Given the description of an element on the screen output the (x, y) to click on. 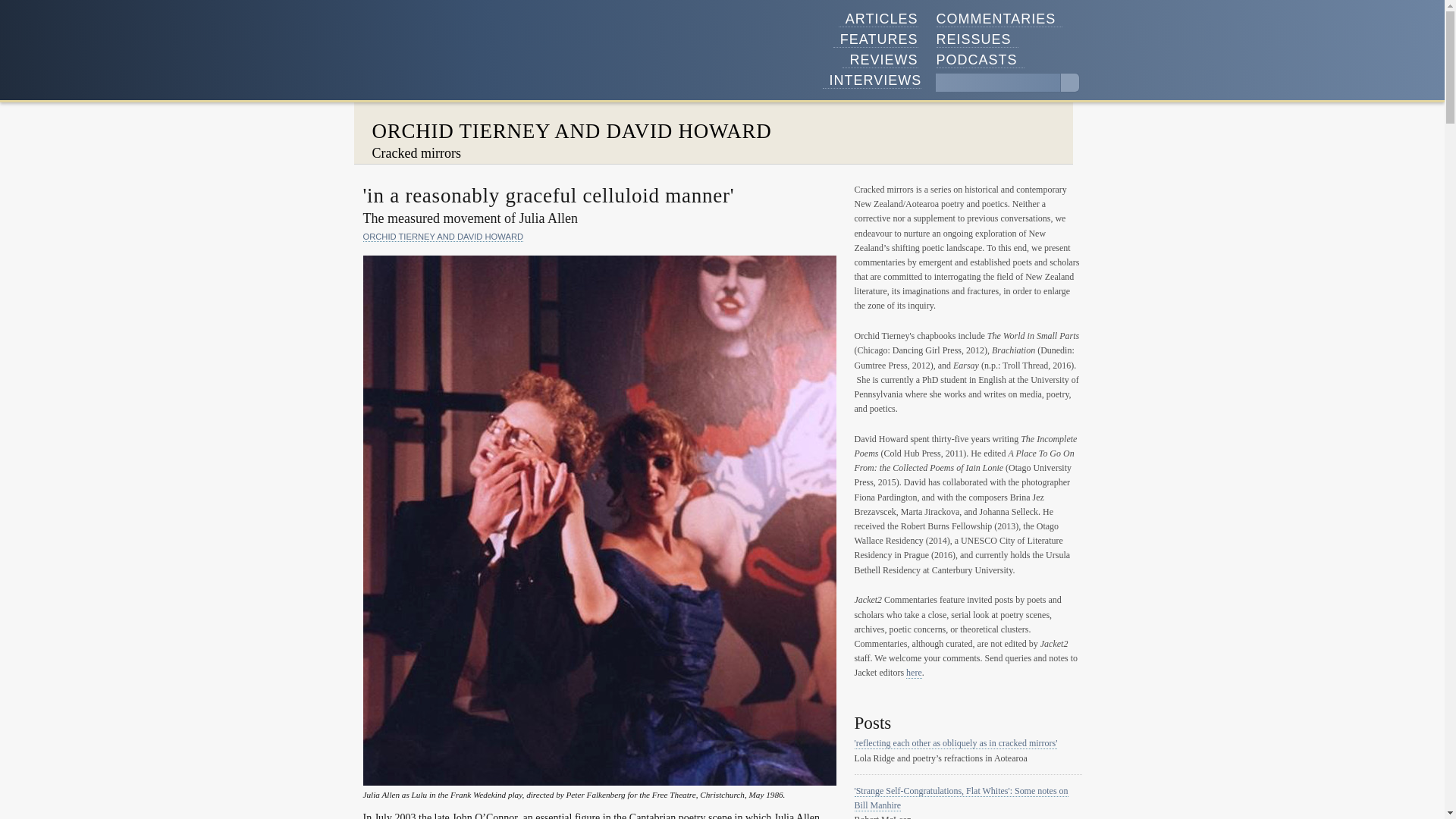
Interviews (871, 80)
ORCHID TIERNEY AND DAVID HOWARD (571, 130)
Reviews (880, 59)
Commentaries (999, 19)
REISSUES (976, 39)
Search (1068, 82)
Enter the terms you wish to search for. (997, 82)
INTERVIEWS (871, 80)
